Given the description of an element on the screen output the (x, y) to click on. 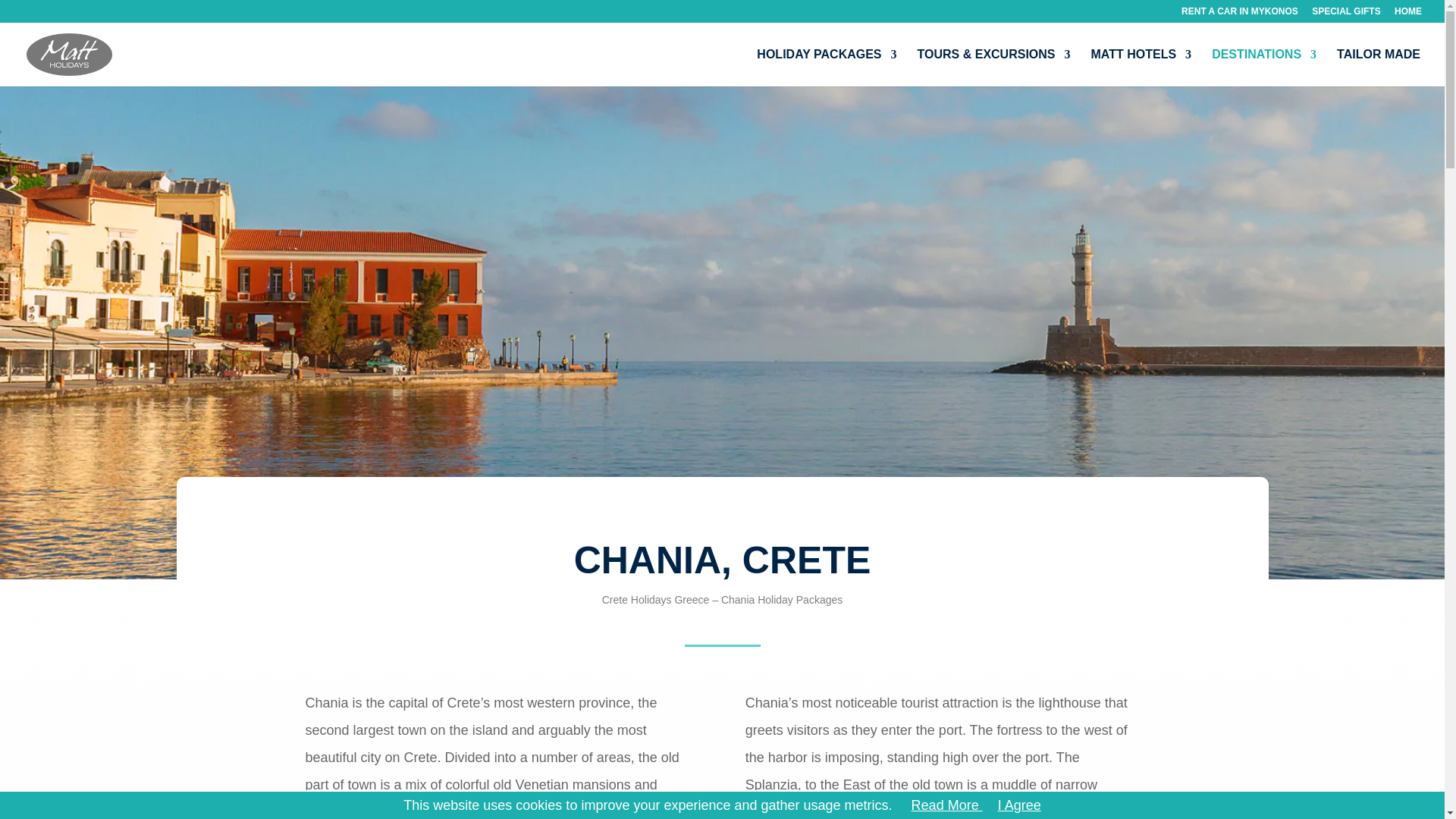
SPECIAL GIFTS (1345, 14)
HOME (1408, 14)
RENT A CAR IN MYKONOS (1239, 14)
HOLIDAY PACKAGES (826, 67)
